Given the description of an element on the screen output the (x, y) to click on. 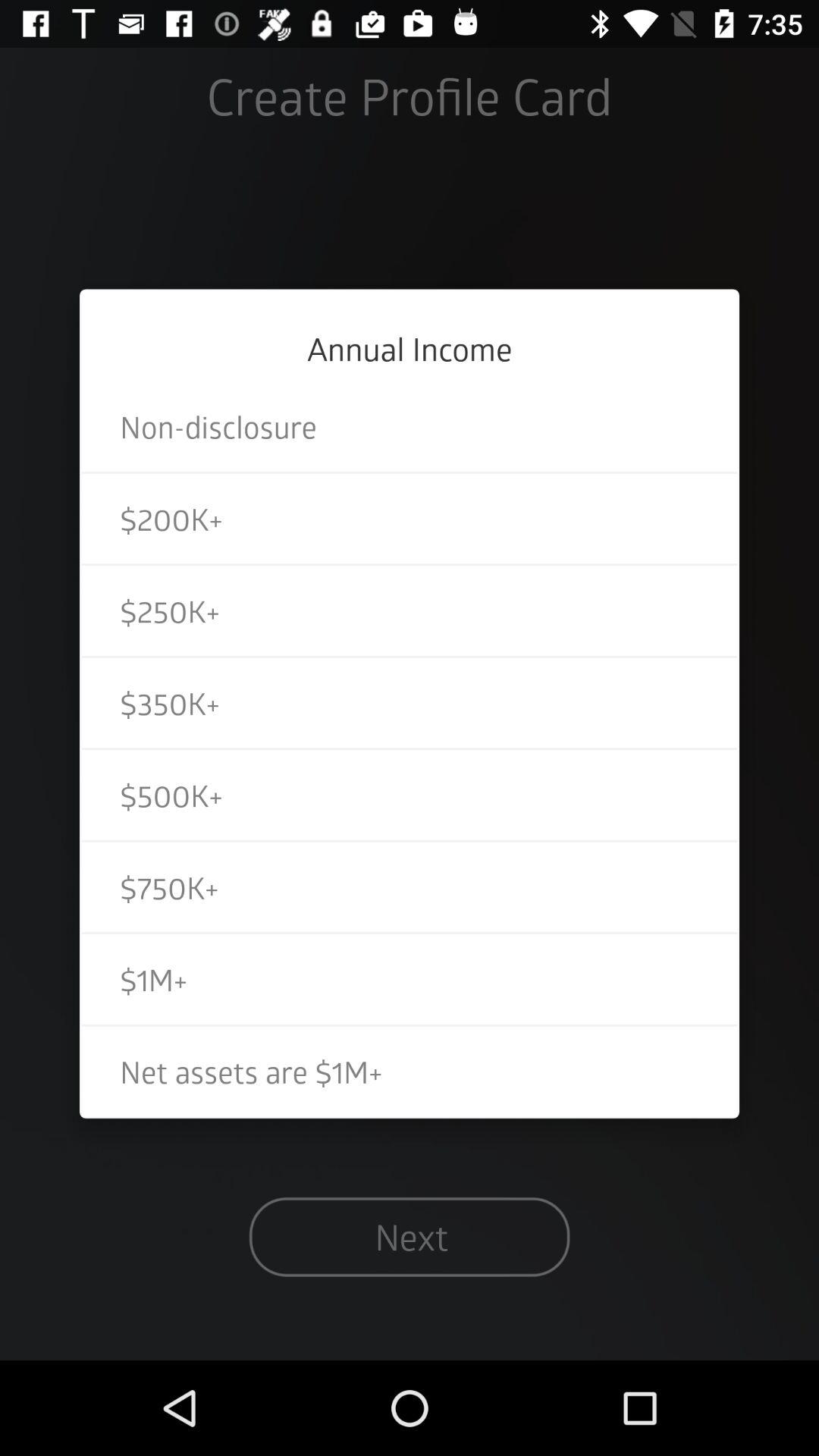
click the $500k+ (409, 795)
